Given the description of an element on the screen output the (x, y) to click on. 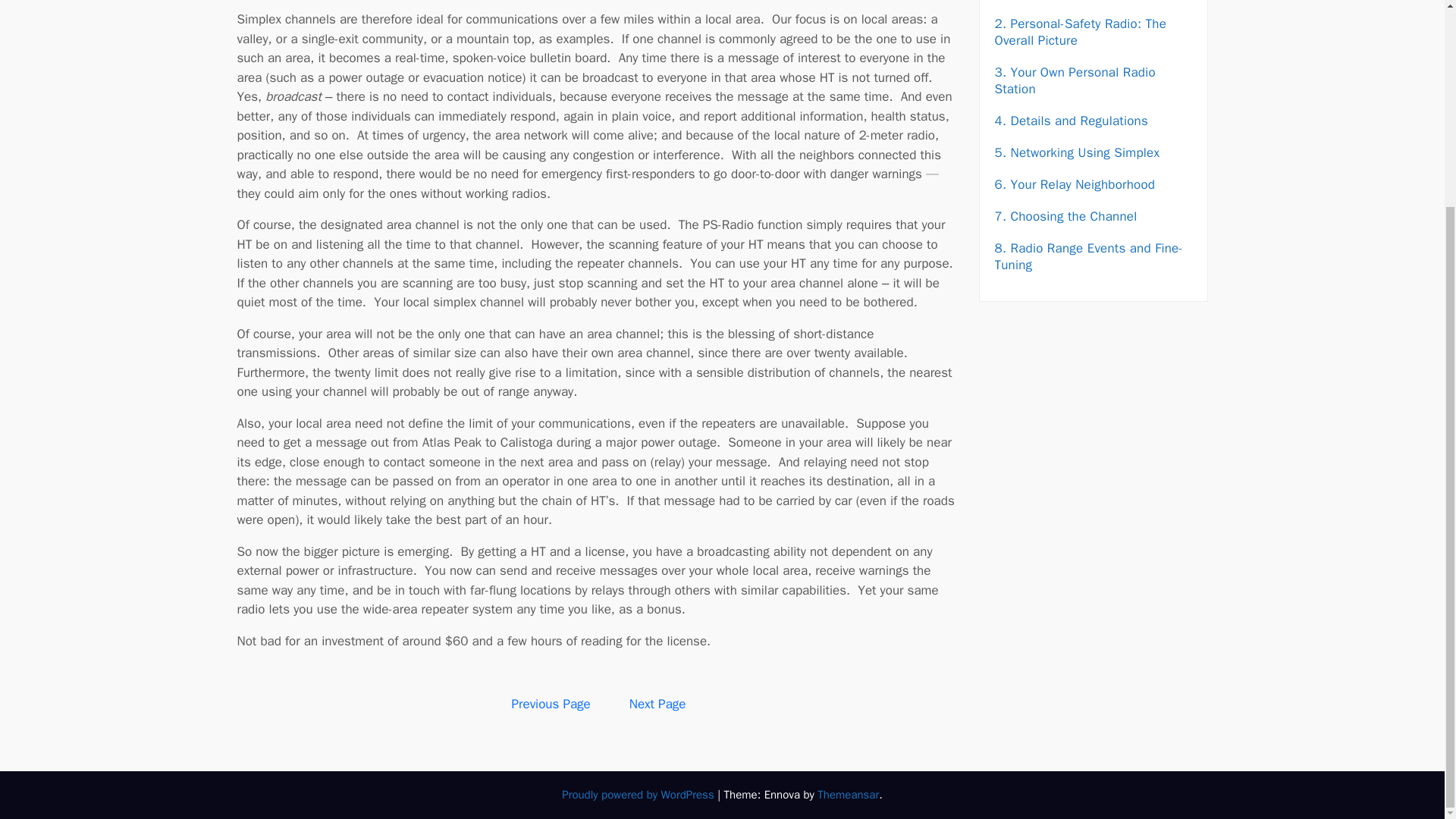
7. Choosing the Channel (1065, 215)
6. Your Relay Neighborhood (1075, 183)
Proudly powered by WordPress (639, 794)
3. Your Own Personal Radio Station (1075, 79)
Themeansar (847, 794)
2. Personal-Safety Radio: The Overall Picture (1080, 31)
5. Networking Using Simplex (1077, 151)
Next Page (656, 703)
8. Radio Range Events and Fine-Tuning (1088, 255)
4. Details and Regulations (1071, 119)
Previous Page (551, 703)
